Given the description of an element on the screen output the (x, y) to click on. 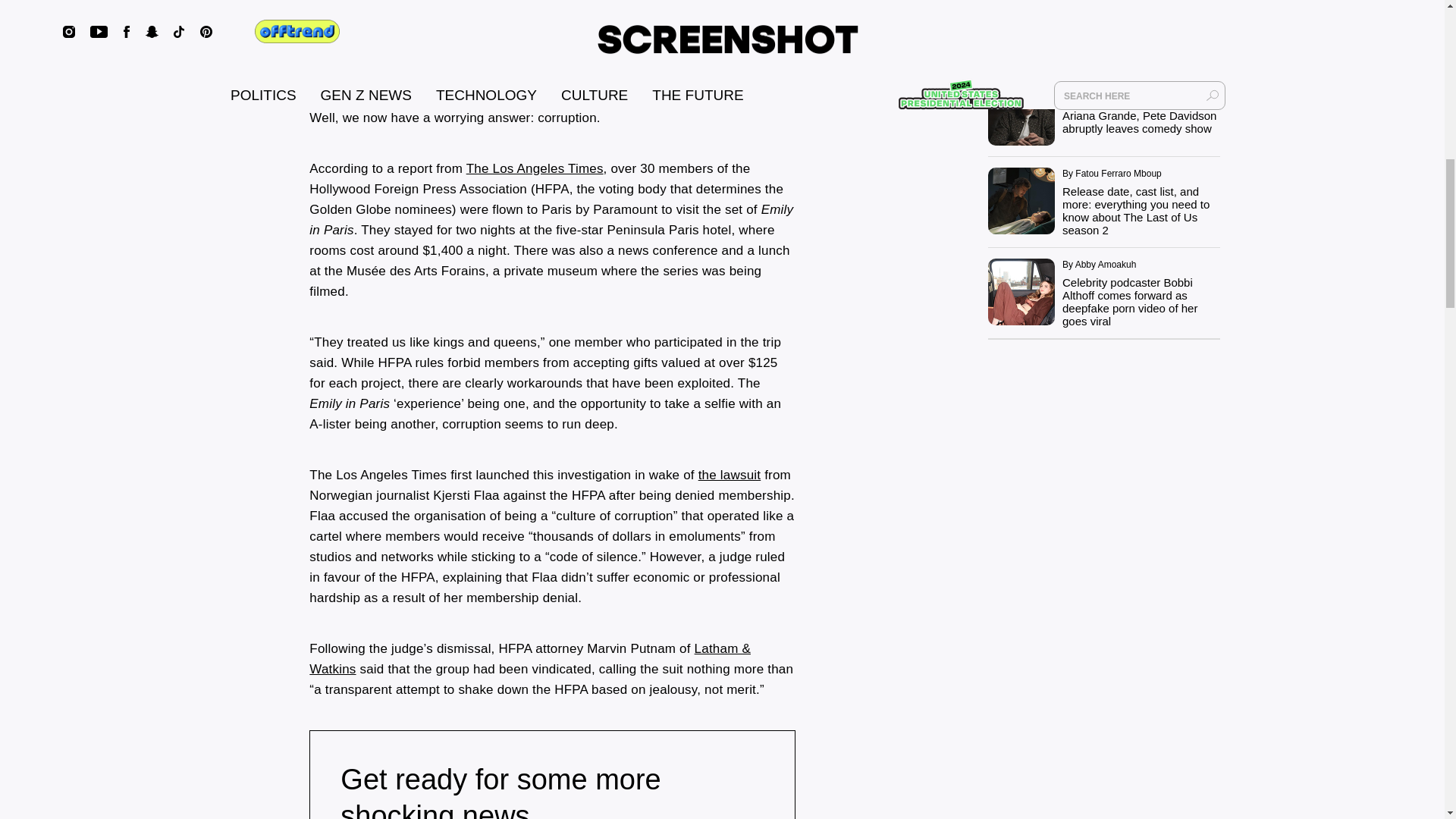
the latter deserved a Golden Globe nomination (613, 76)
Emily in Paris (574, 11)
The Los Angeles Times (534, 168)
